Given the description of an element on the screen output the (x, y) to click on. 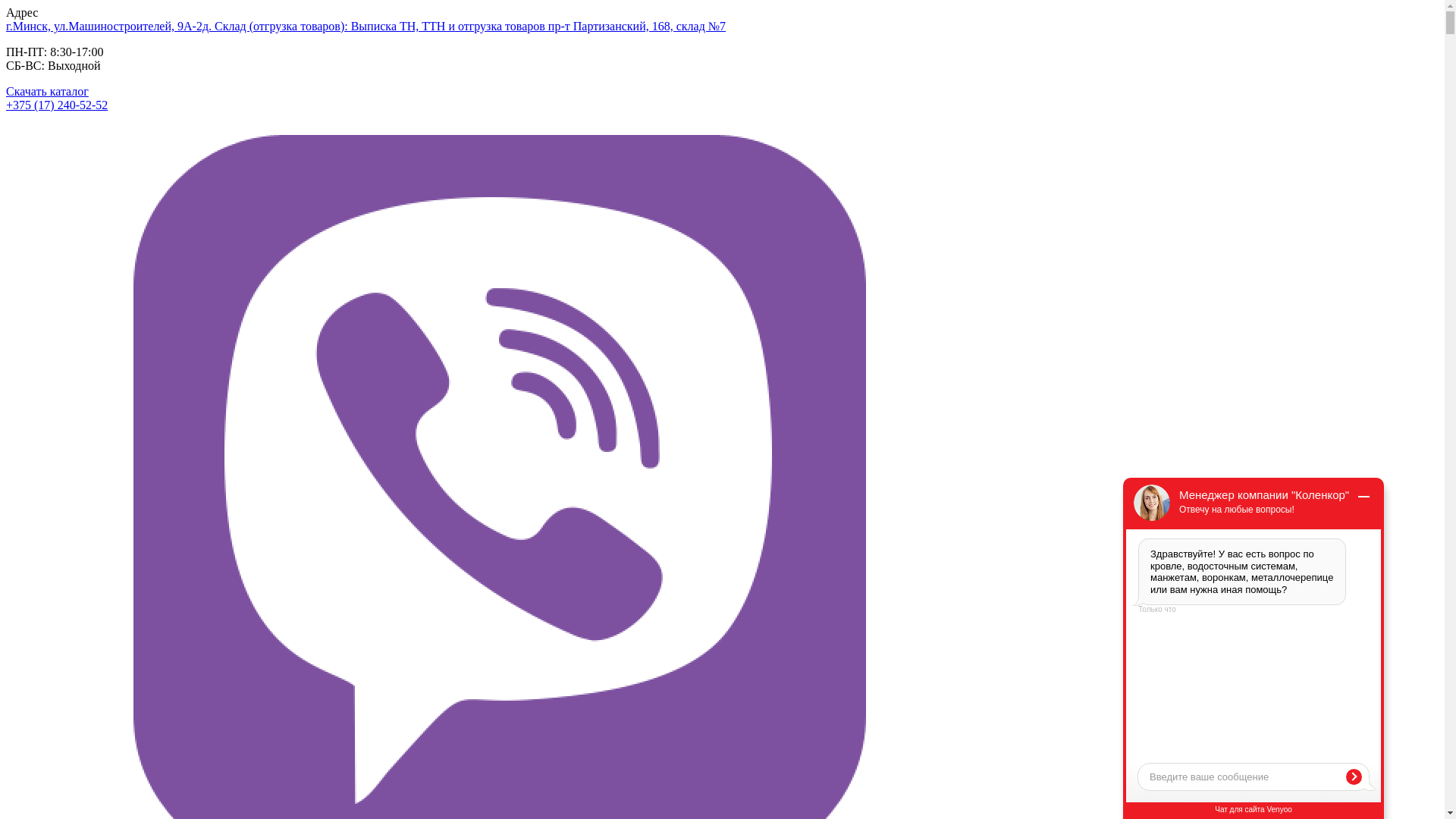
+375 (17) 240-52-52 Element type: text (56, 104)
